Given the description of an element on the screen output the (x, y) to click on. 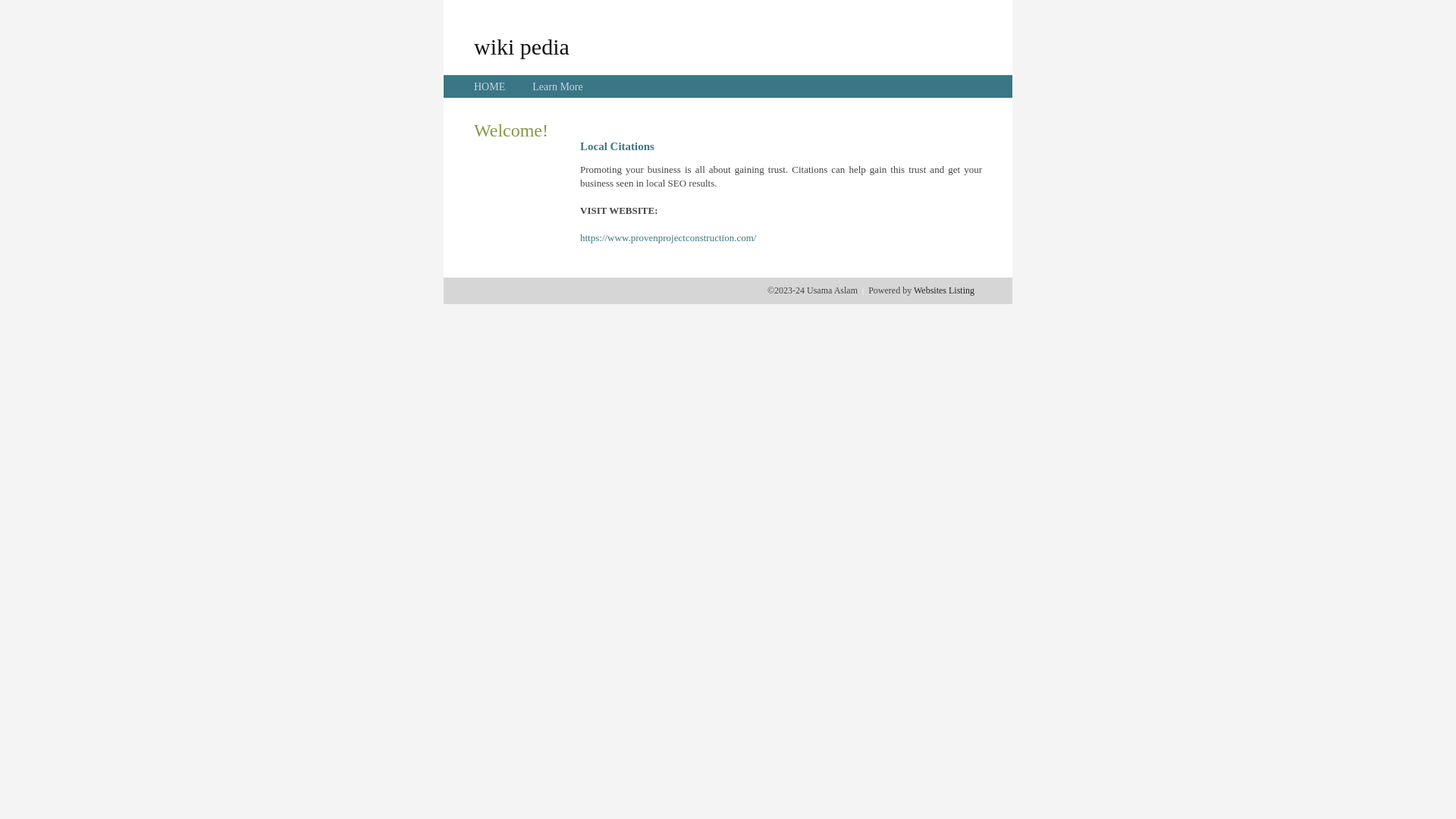
wiki pedia Element type: text (521, 46)
https://www.provenprojectconstruction.com/ Element type: text (668, 237)
Learn More Element type: text (557, 86)
Websites Listing Element type: text (943, 290)
HOME Element type: text (489, 86)
